Given the description of an element on the screen output the (x, y) to click on. 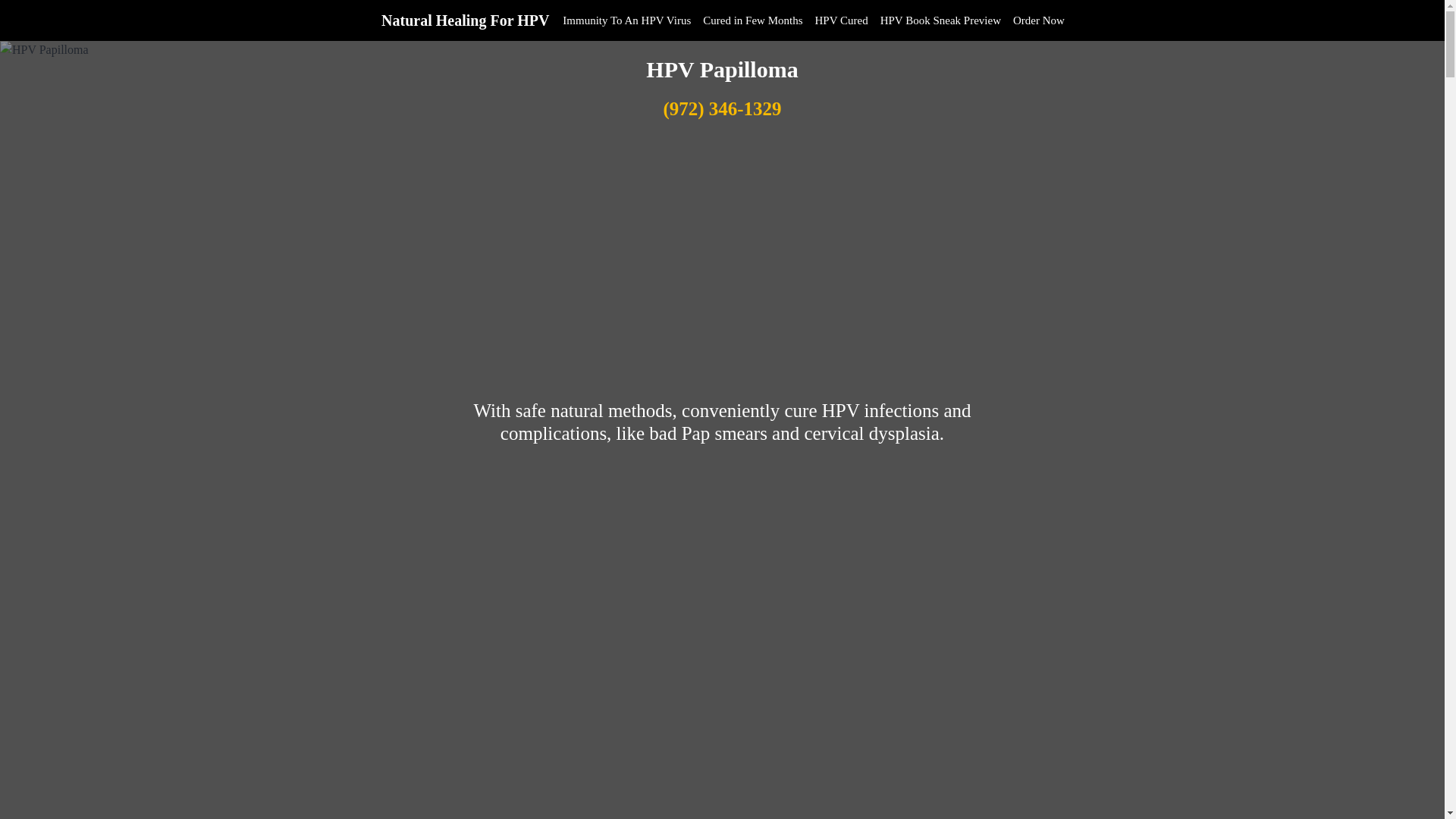
HPV Cured (842, 20)
Immunity To An HPV Virus (626, 20)
Order Now (1038, 20)
Cured in Few Months (752, 20)
HPV Book Sneak Preview (941, 20)
Natural Healing For HPV (465, 20)
